Given the description of an element on the screen output the (x, y) to click on. 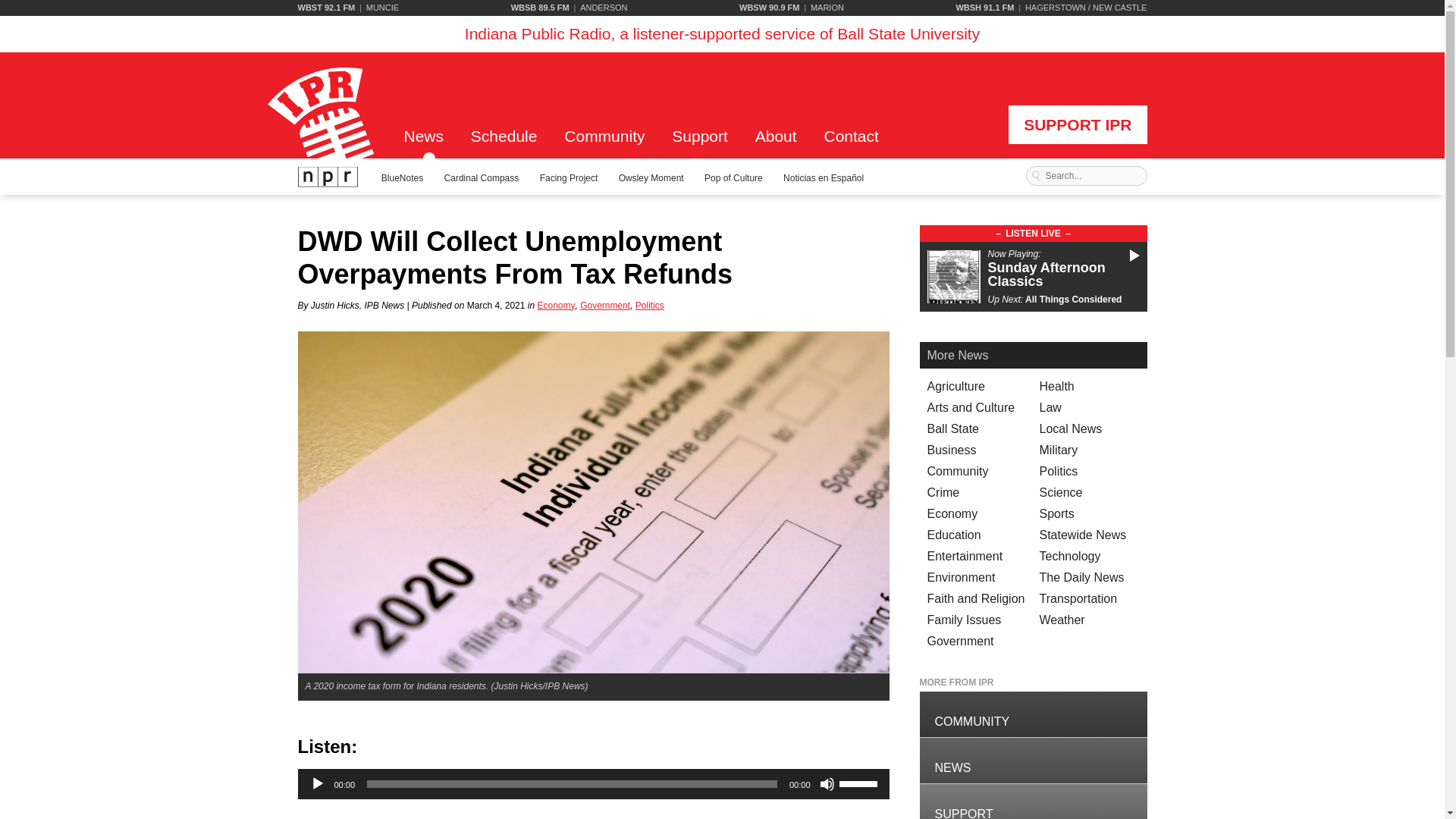
Schedule (504, 142)
Contact (850, 142)
Business (950, 449)
Arts and Culture (970, 407)
Owsley Moment (651, 177)
Politics (648, 305)
NPR (327, 177)
Entertainment (964, 555)
Agriculture (955, 386)
News (428, 142)
Support (1032, 801)
Environment (960, 576)
Economy (951, 513)
Community (957, 471)
